Given the description of an element on the screen output the (x, y) to click on. 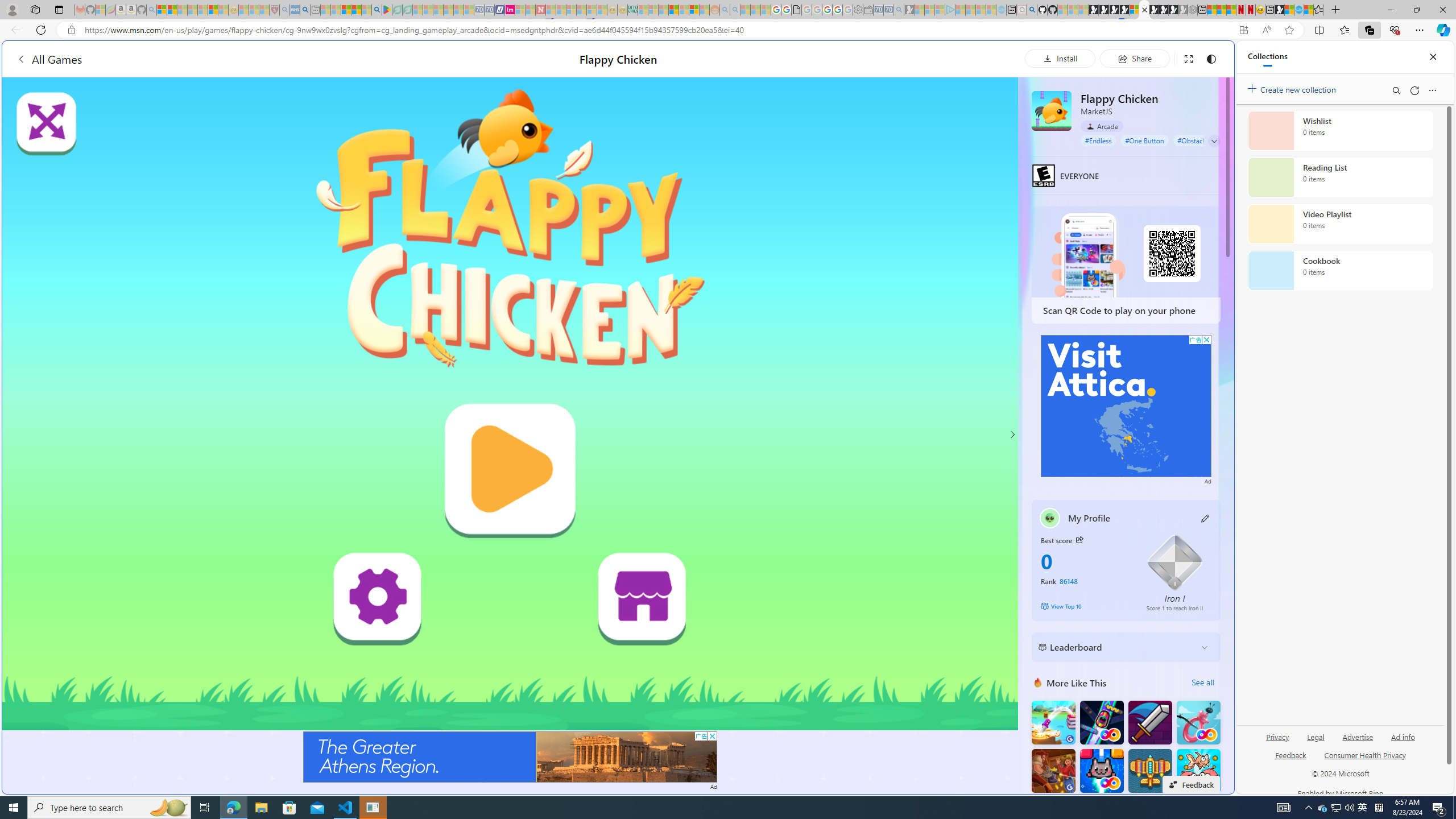
github - Search (1032, 9)
Reading List collection, 0 items (1339, 177)
Class: control (1214, 140)
Microsoft Start Gaming - Sleeping (908, 9)
Kitten Force FRVR (1101, 770)
""'s avatar (1049, 518)
Consumer Health Privacy (1364, 754)
Advertisement (1126, 405)
